Given the description of an element on the screen output the (x, y) to click on. 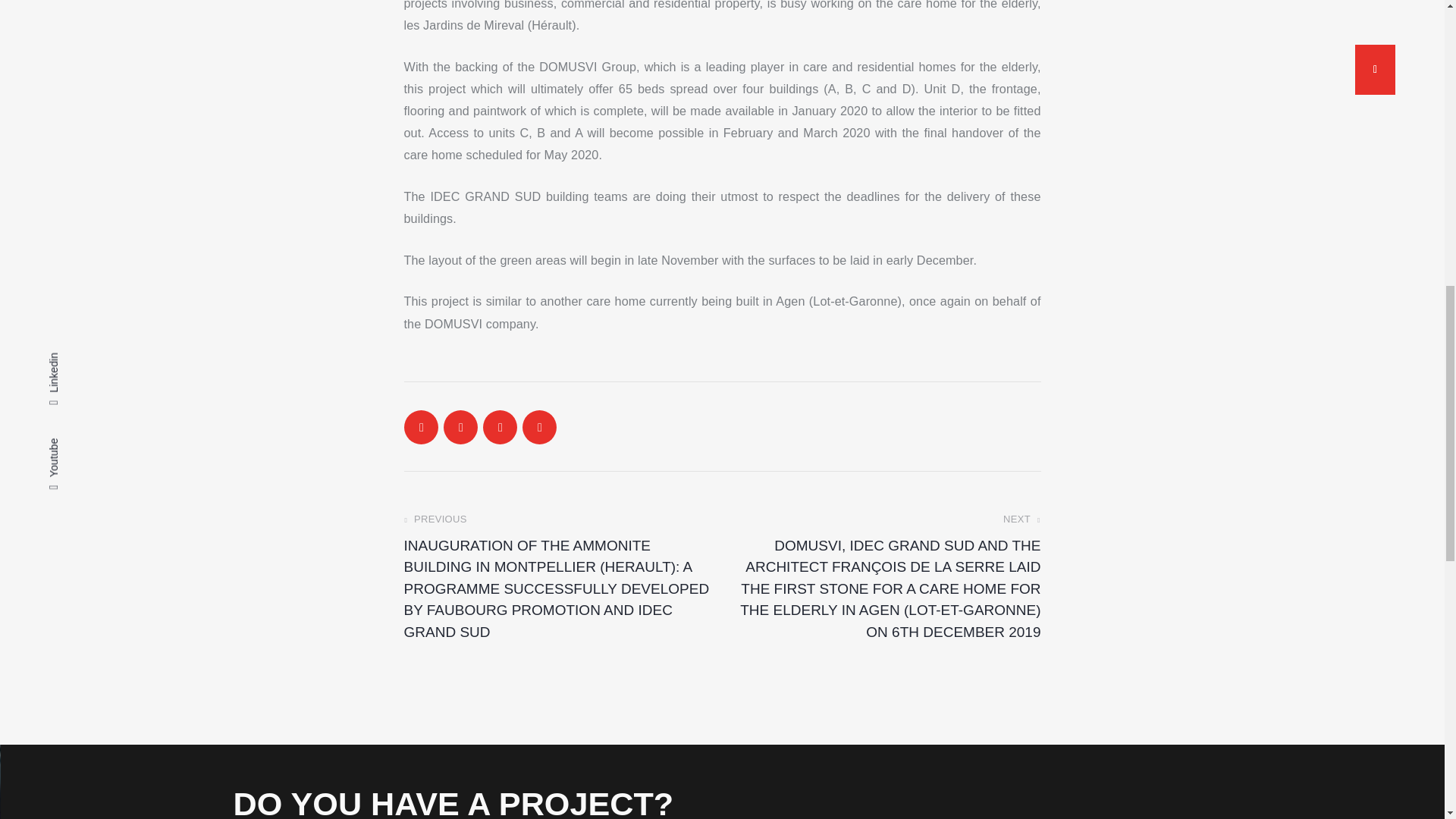
Copy URL to clipboard (538, 427)
